Given the description of an element on the screen output the (x, y) to click on. 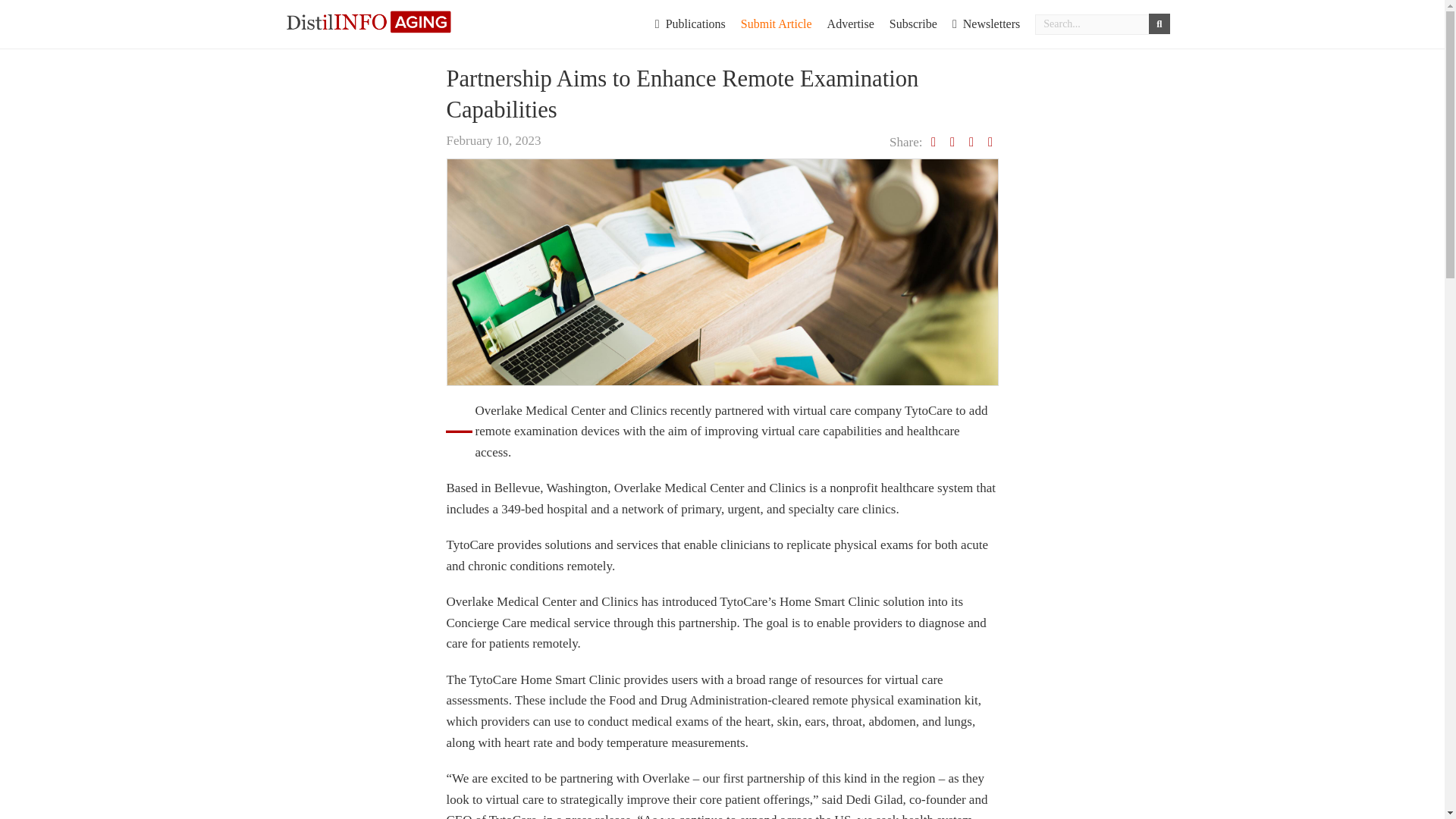
Subscribe (913, 24)
Submit Article (776, 24)
Advertise (850, 24)
Newsletters (985, 24)
Publications (690, 24)
Newsletters Archive (985, 24)
DistilINFO Aging Advisory (384, 21)
